Given the description of an element on the screen output the (x, y) to click on. 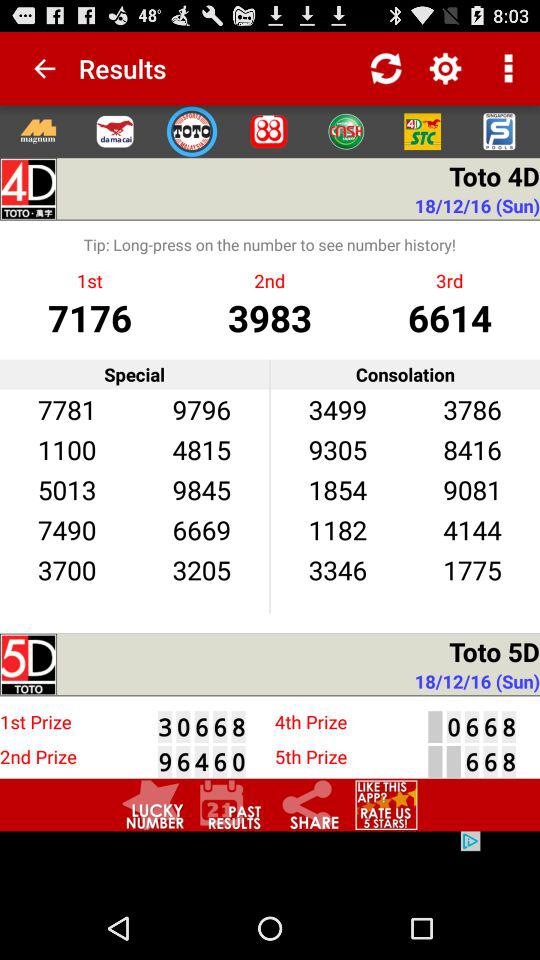
choose the 7176 (90, 316)
